Given the description of an element on the screen output the (x, y) to click on. 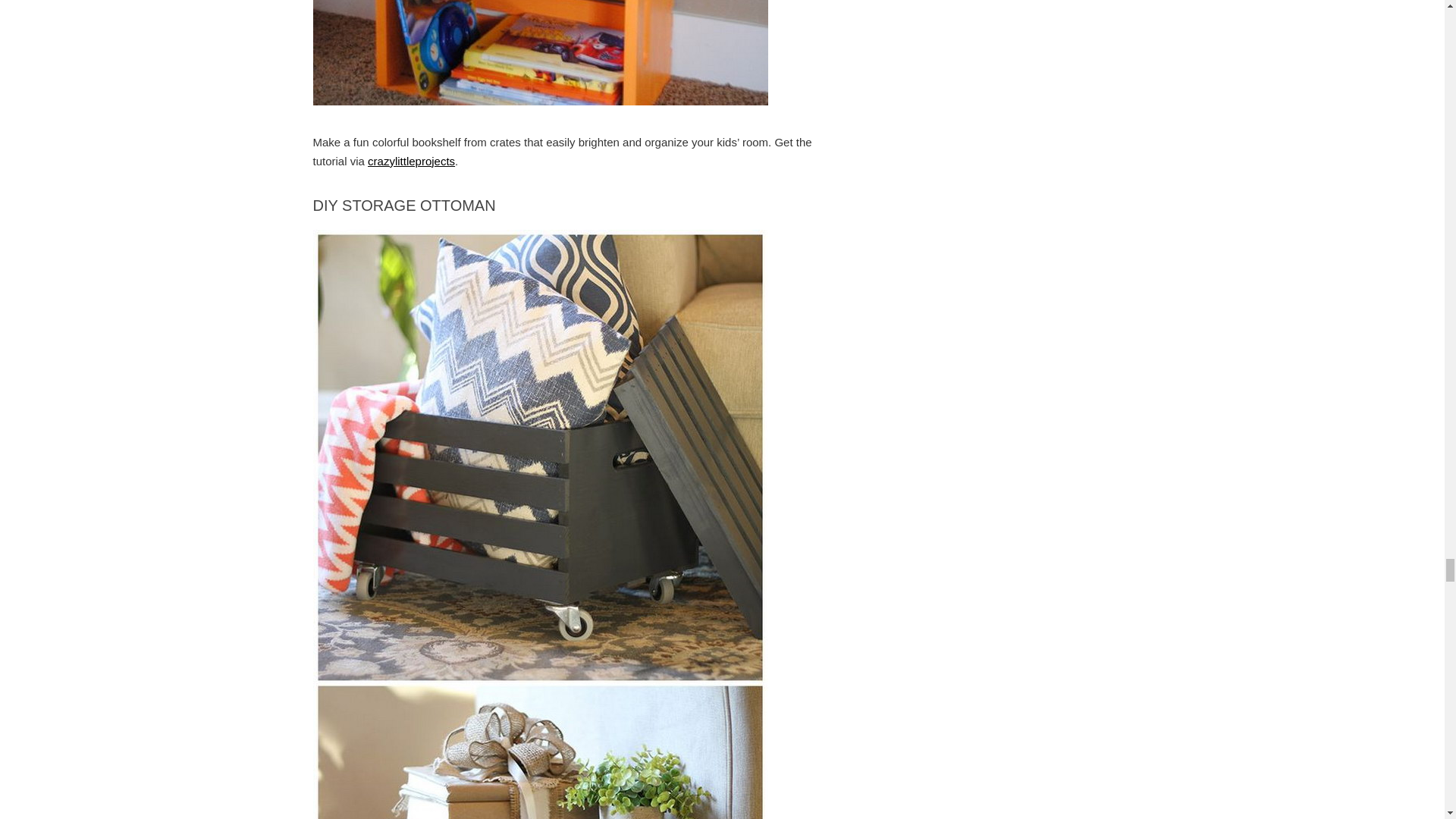
crazylittleprojects (411, 160)
